Given the description of an element on the screen output the (x, y) to click on. 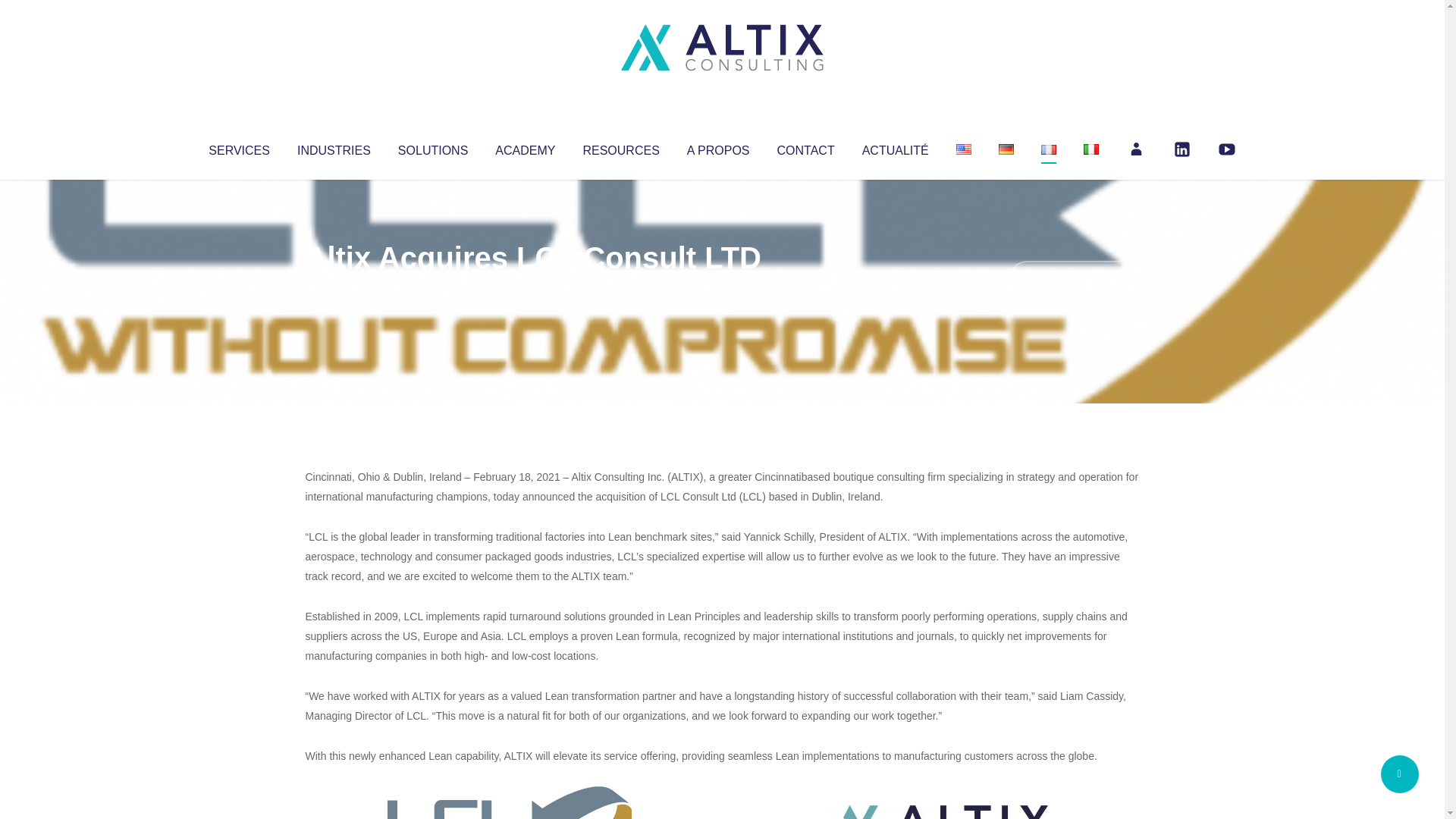
RESOURCES (620, 146)
INDUSTRIES (334, 146)
Articles par Altix (333, 287)
No Comments (1073, 278)
A PROPOS (718, 146)
SOLUTIONS (432, 146)
Uncategorized (530, 287)
Altix (333, 287)
SERVICES (238, 146)
ACADEMY (524, 146)
